Given the description of an element on the screen output the (x, y) to click on. 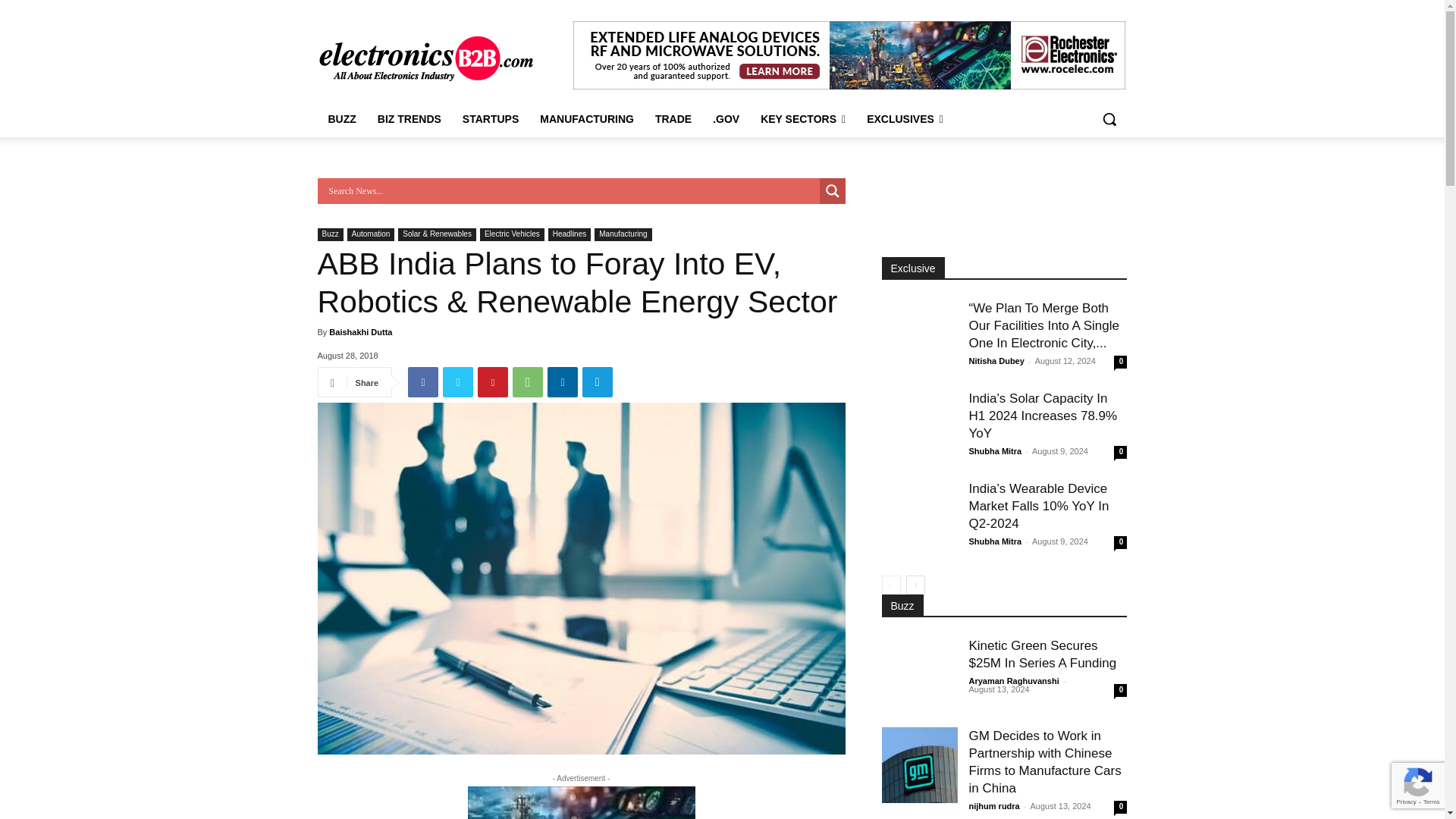
BUZZ (341, 118)
Twitter (457, 381)
BIZ TRENDS (408, 118)
Linkedin (562, 381)
KEY SECTORS (802, 118)
Telegram (597, 381)
.GOV (725, 118)
MANUFACTURING (587, 118)
WhatsApp (527, 381)
